Given the description of an element on the screen output the (x, y) to click on. 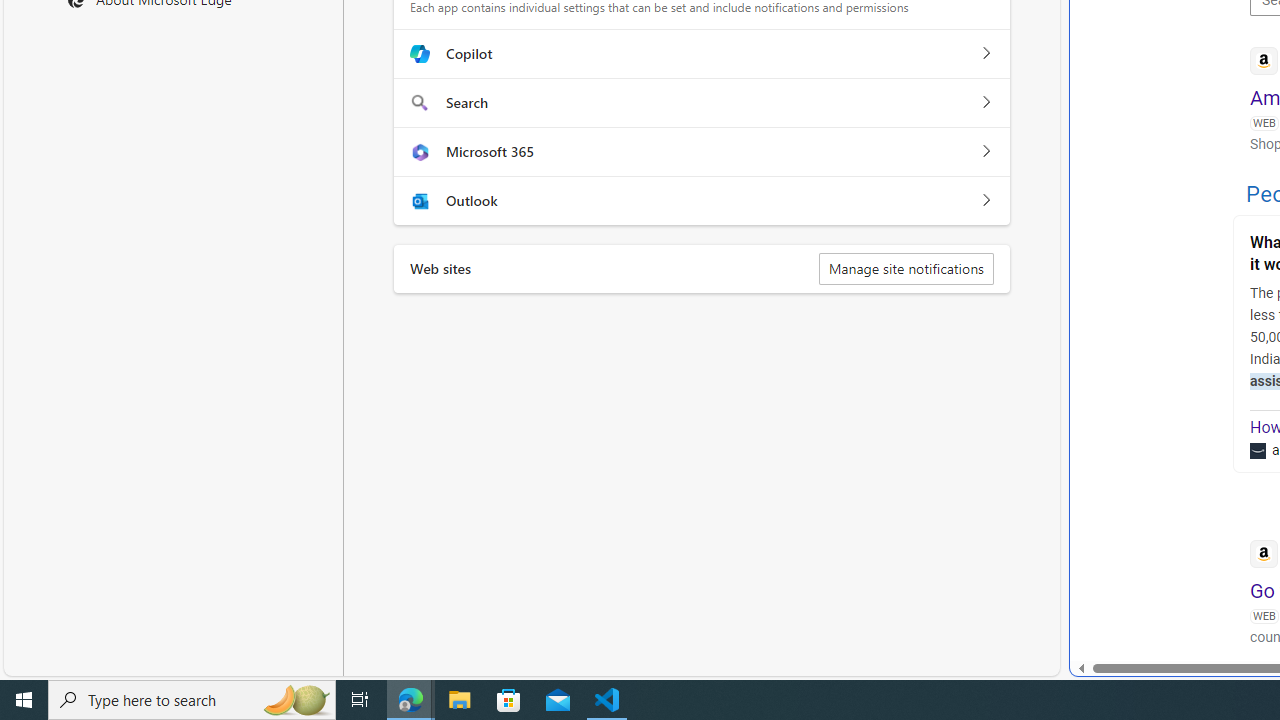
Manage site notifications (905, 268)
Copilot (985, 54)
